Given the description of an element on the screen output the (x, y) to click on. 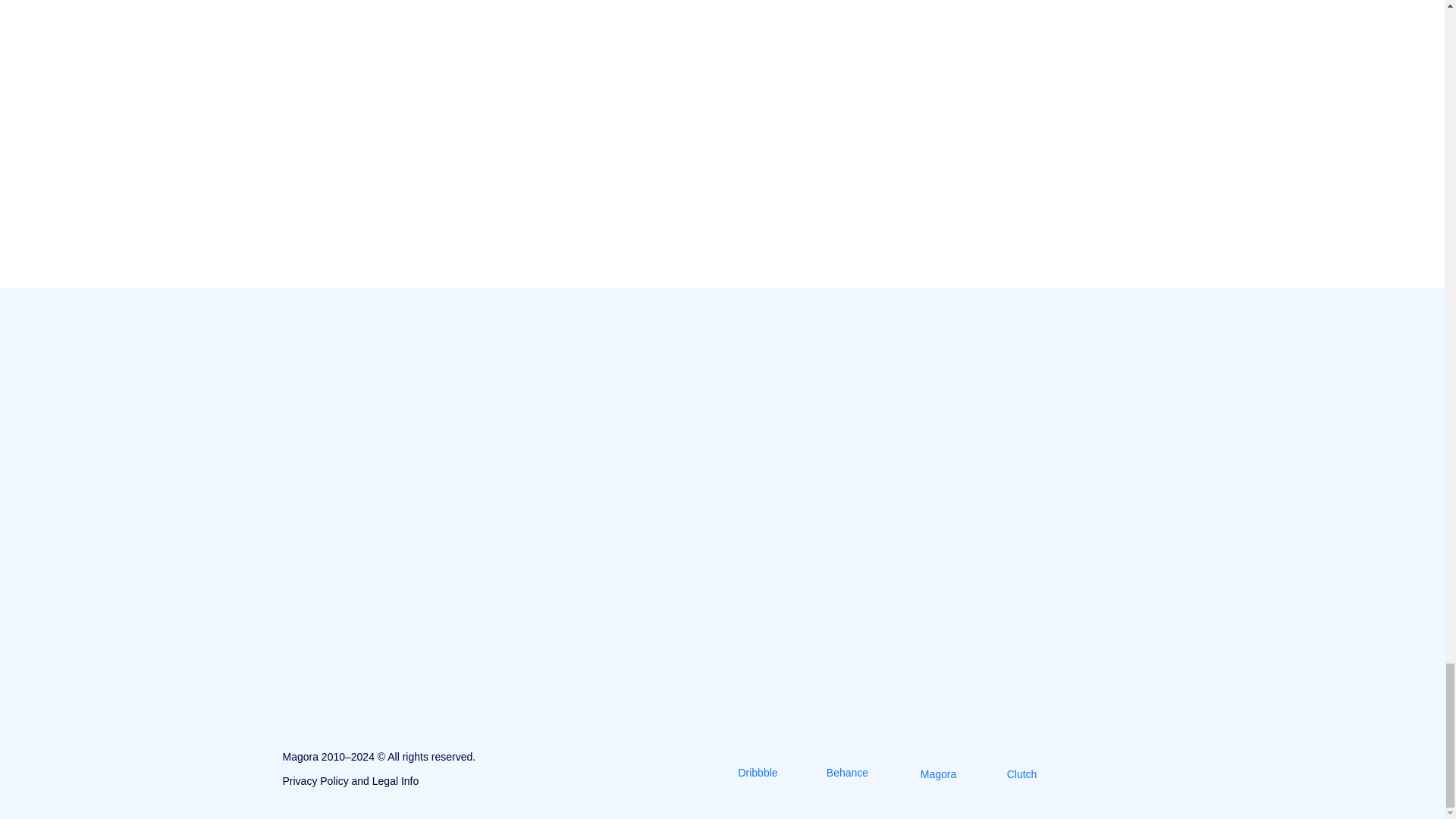
Privacy Policy and Legal Info (350, 780)
Behance (847, 773)
Clutch (1021, 774)
Dribbble (757, 773)
Magora (937, 774)
